Given the description of an element on the screen output the (x, y) to click on. 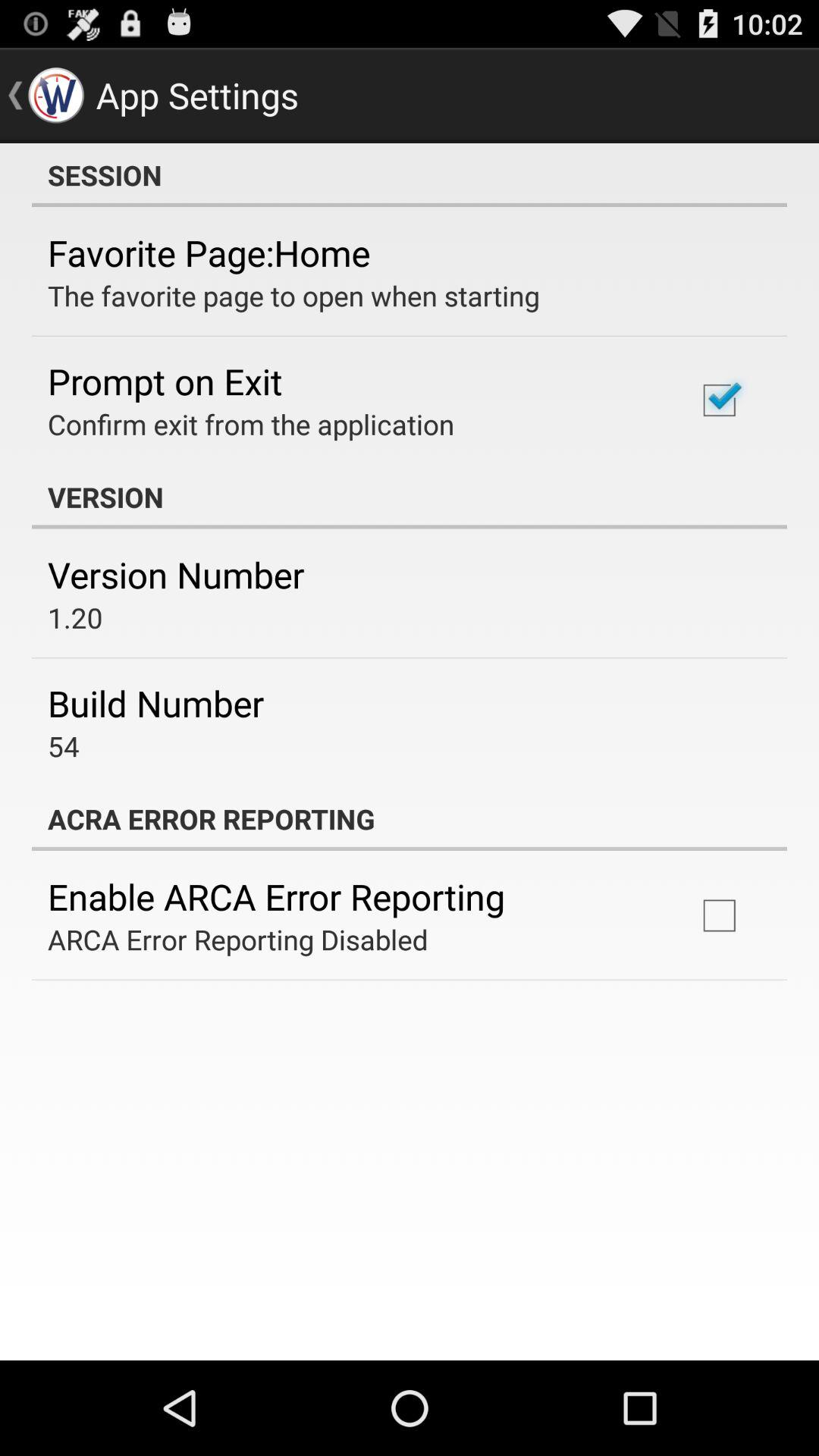
open the item below prompt on exit (250, 424)
